Given the description of an element on the screen output the (x, y) to click on. 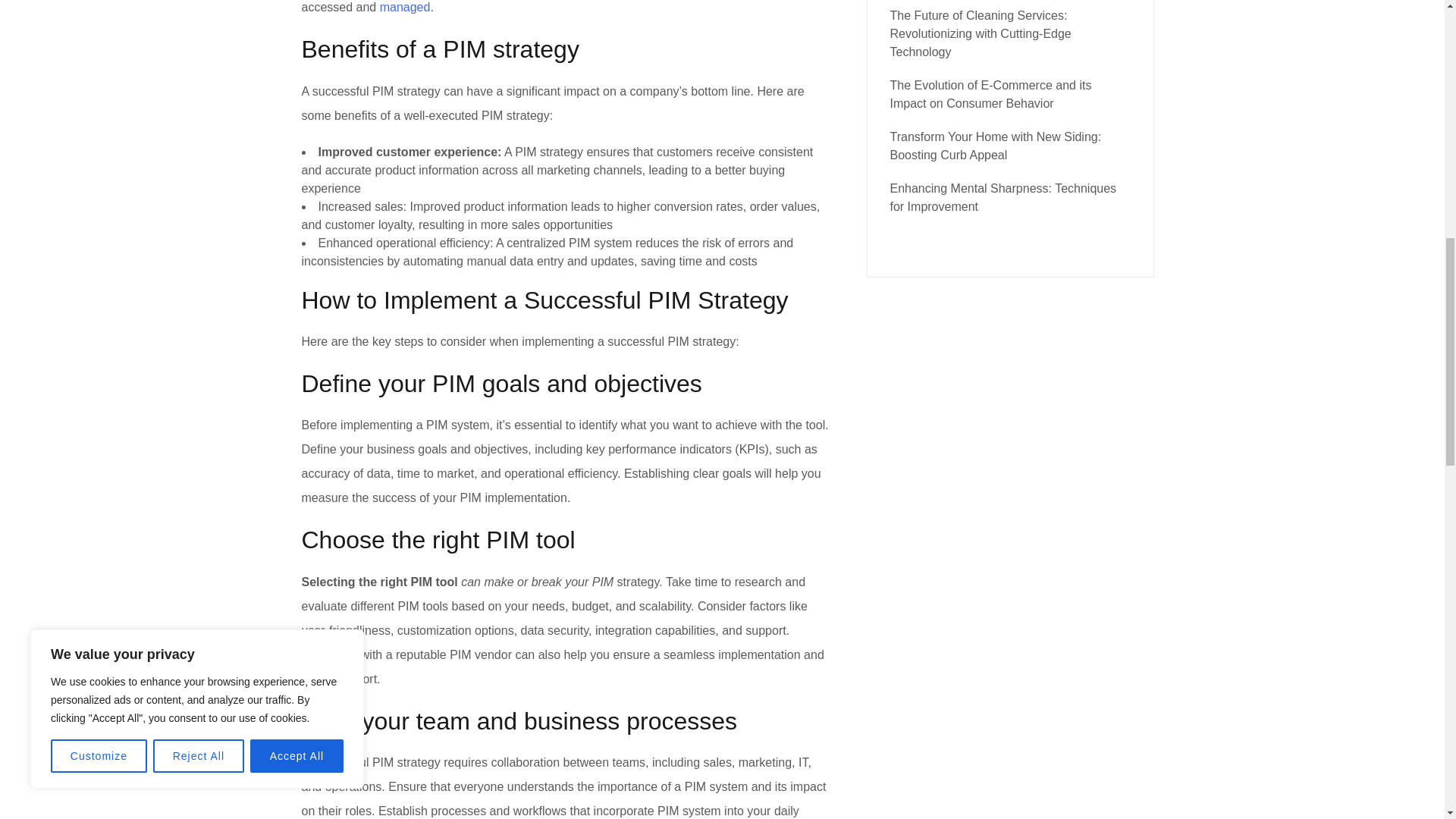
managed (405, 6)
